Given the description of an element on the screen output the (x, y) to click on. 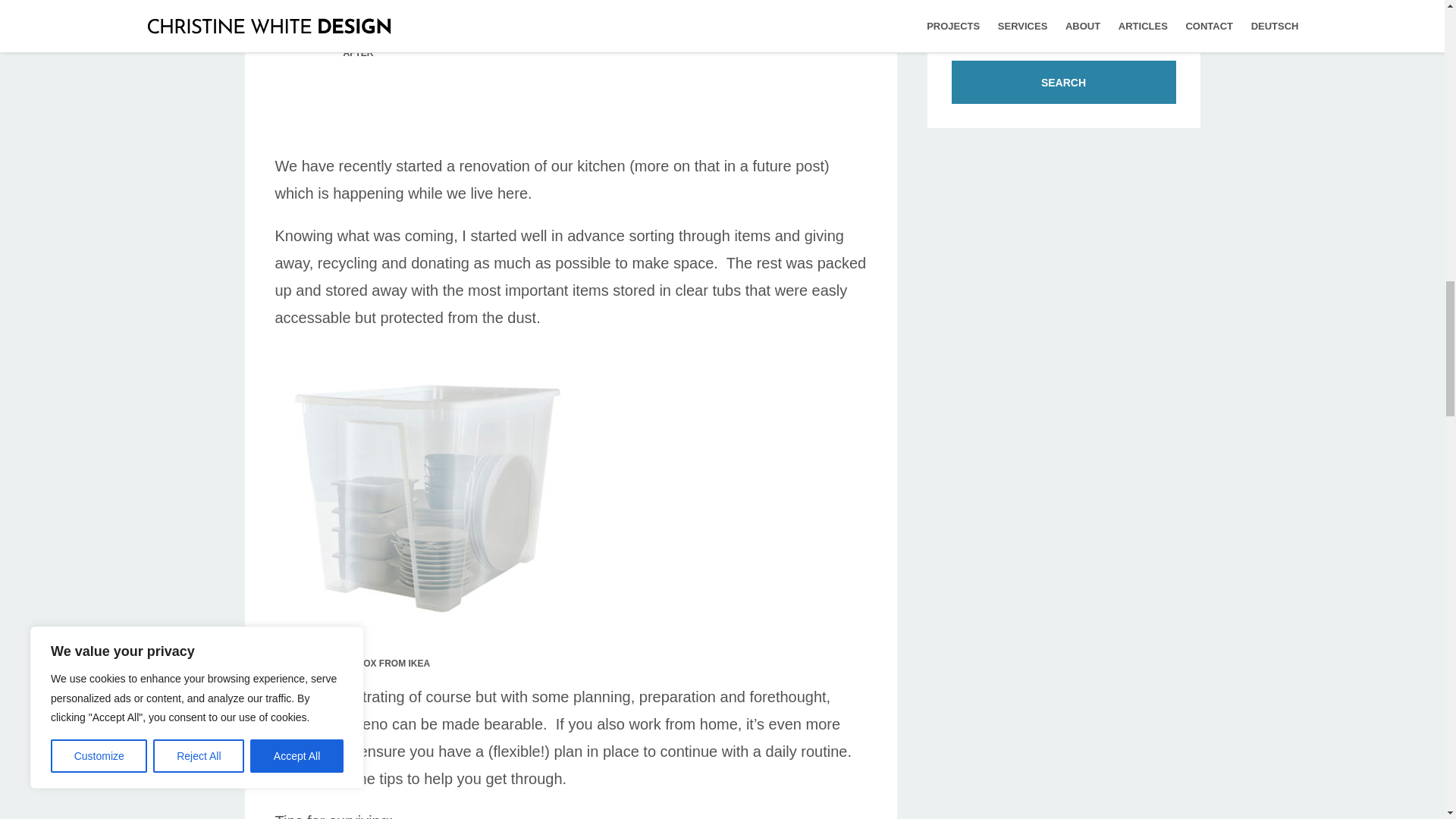
Search (1062, 81)
